Given the description of an element on the screen output the (x, y) to click on. 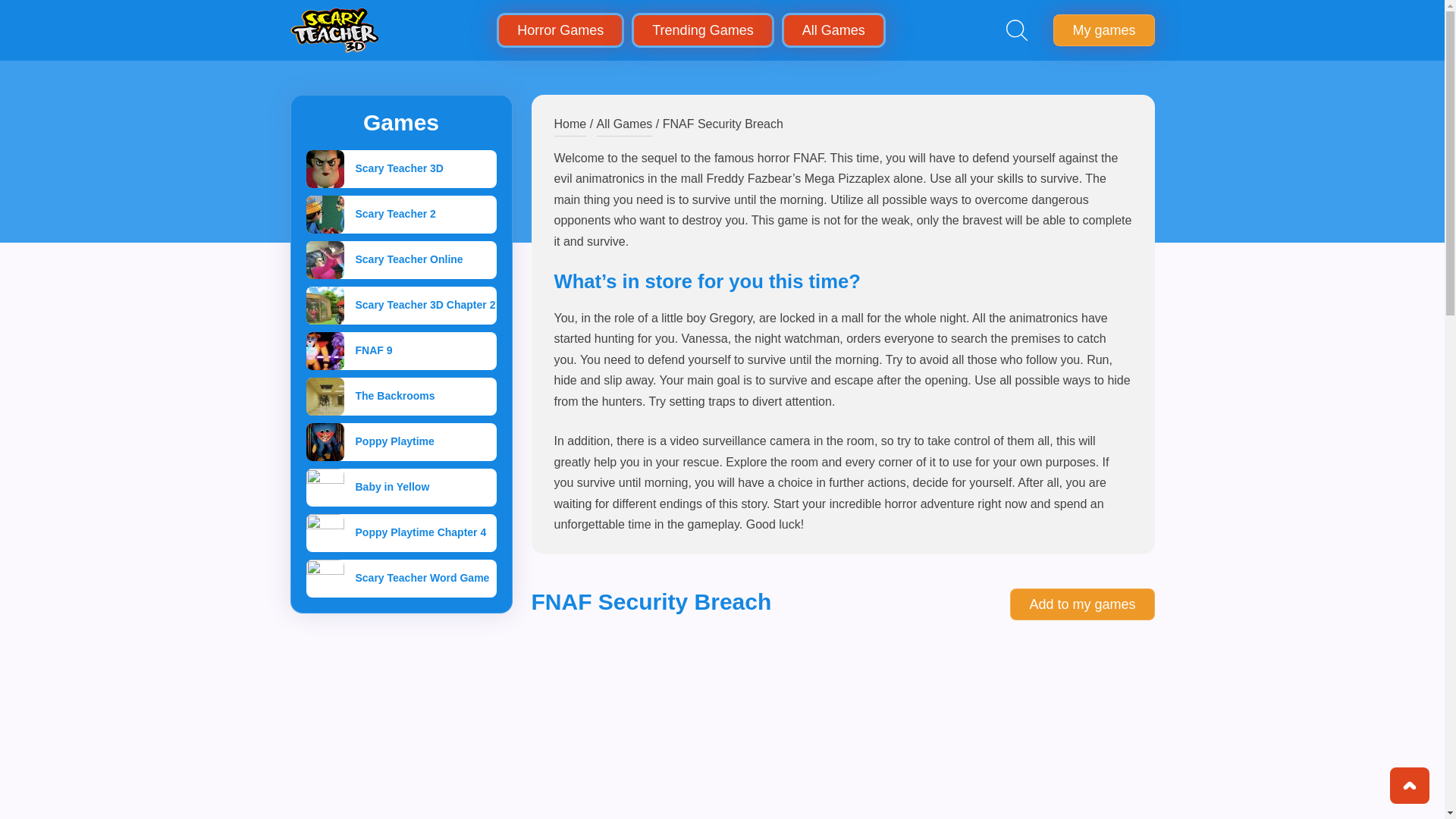
My games (1103, 29)
Scary Teacher 3D (400, 168)
Scary Teacher 3D Chapter 2 (400, 305)
Trending Games (702, 30)
Baby in Yellow (400, 487)
Scary Teacher Online (400, 259)
Scary Teacher Word Game (400, 578)
FNAF 9 (400, 351)
Poppy Playtime (400, 442)
Poppy Playtime Chapter 4 (400, 533)
Baby in Yellow (400, 487)
Add to my games (1082, 603)
Home (569, 124)
Poppy Playtime Chapter 4 (400, 533)
The Backrooms (400, 396)
